Given the description of an element on the screen output the (x, y) to click on. 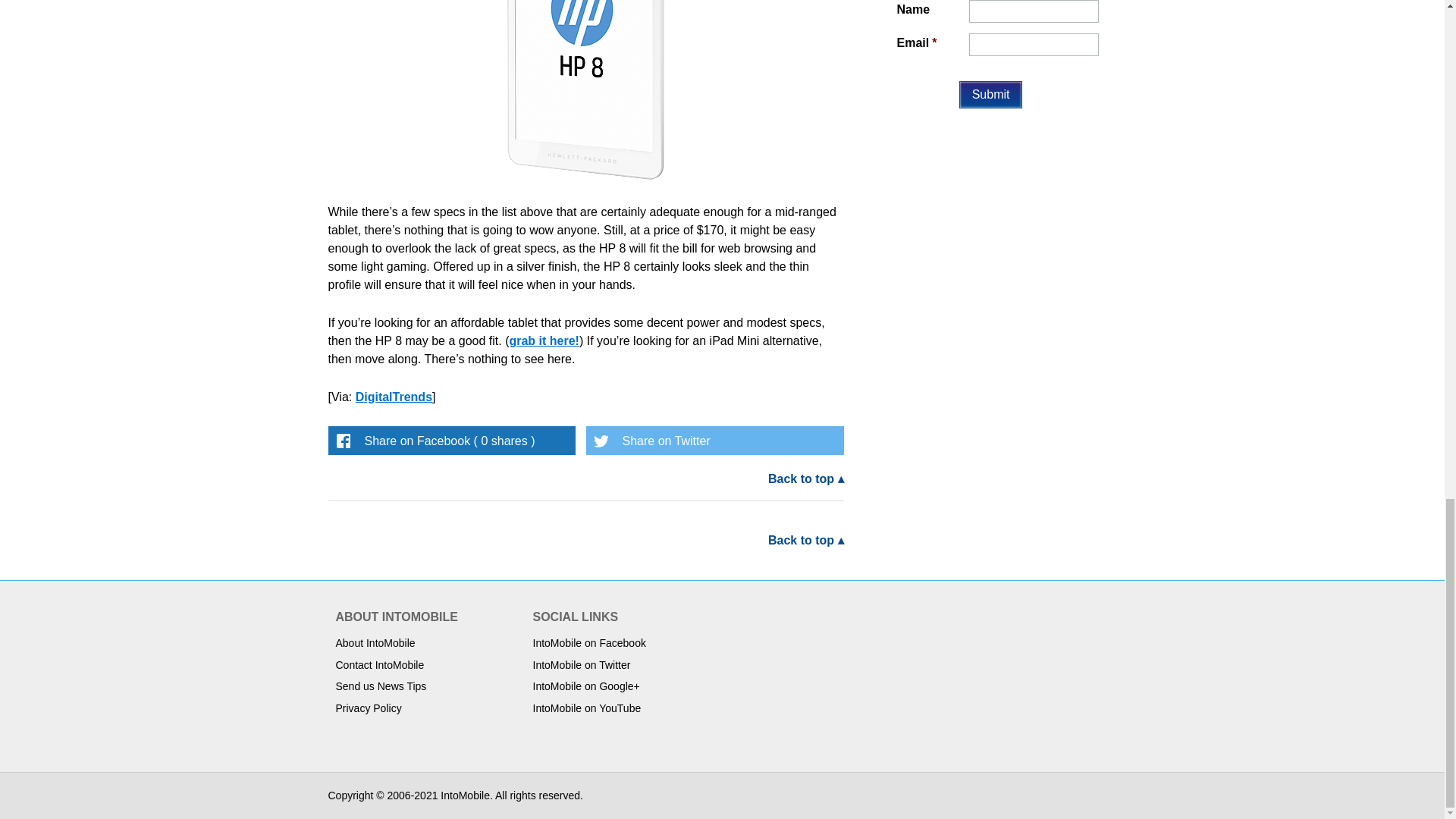
DigitalTrends (393, 396)
HP82 (585, 91)
grab it here! (543, 340)
Share on Twitter (714, 440)
Submit (991, 94)
Share on Twitter (714, 440)
